Given the description of an element on the screen output the (x, y) to click on. 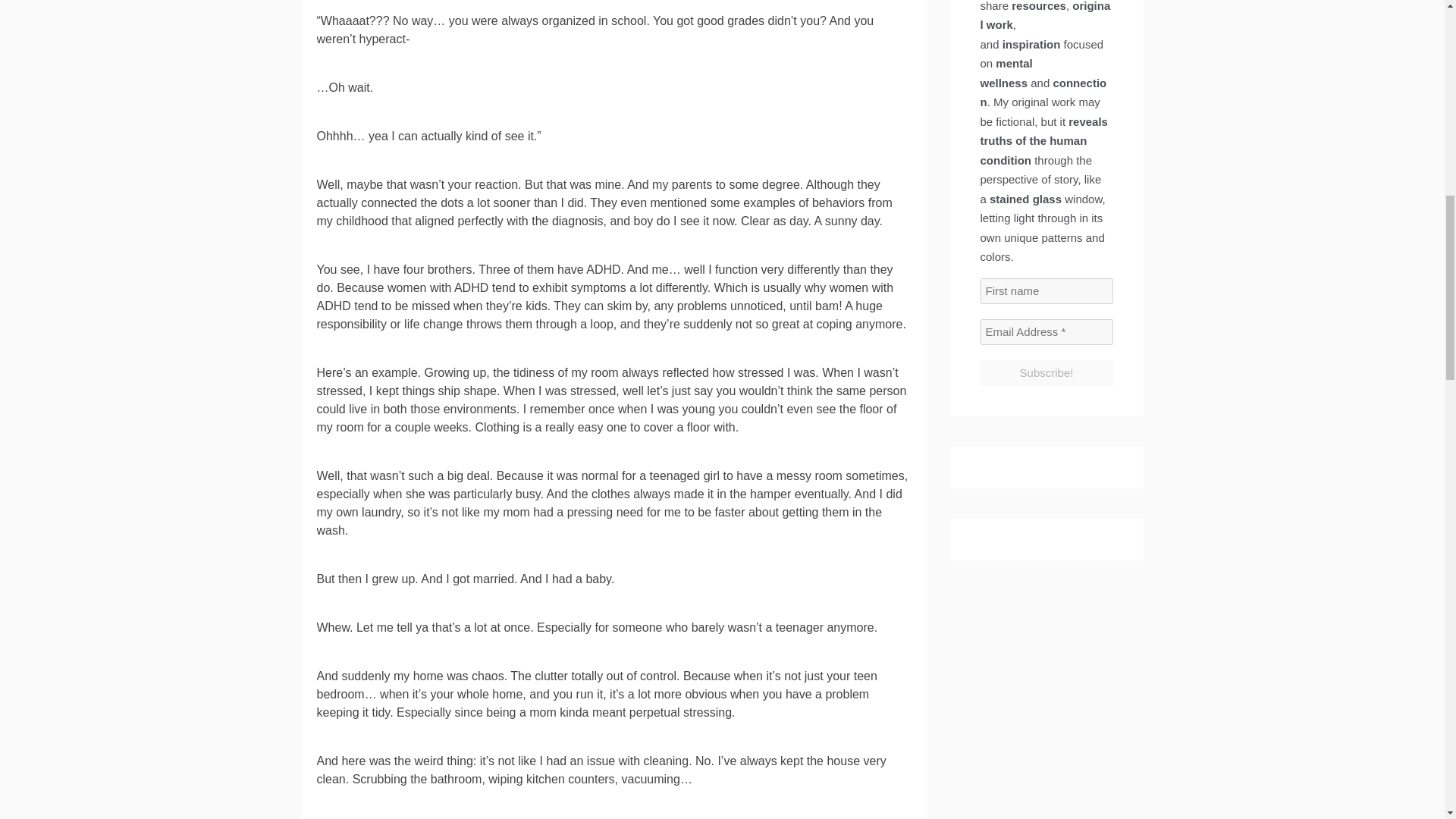
Email Address (1045, 331)
Subscribe! (1045, 372)
Subscribe! (1045, 372)
First name (1045, 290)
